Given the description of an element on the screen output the (x, y) to click on. 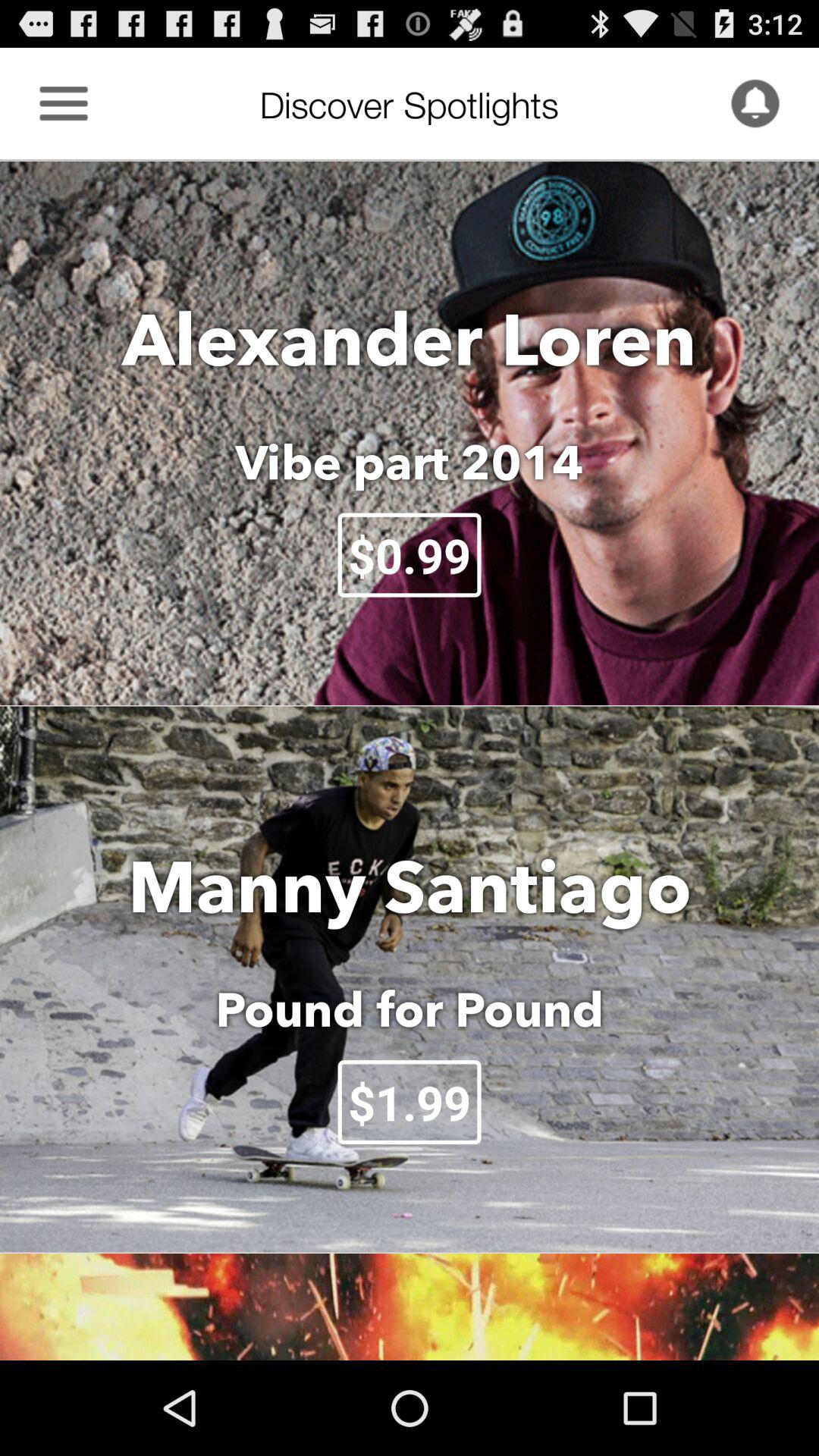
click the app above vibe part 2014 item (409, 338)
